Given the description of an element on the screen output the (x, y) to click on. 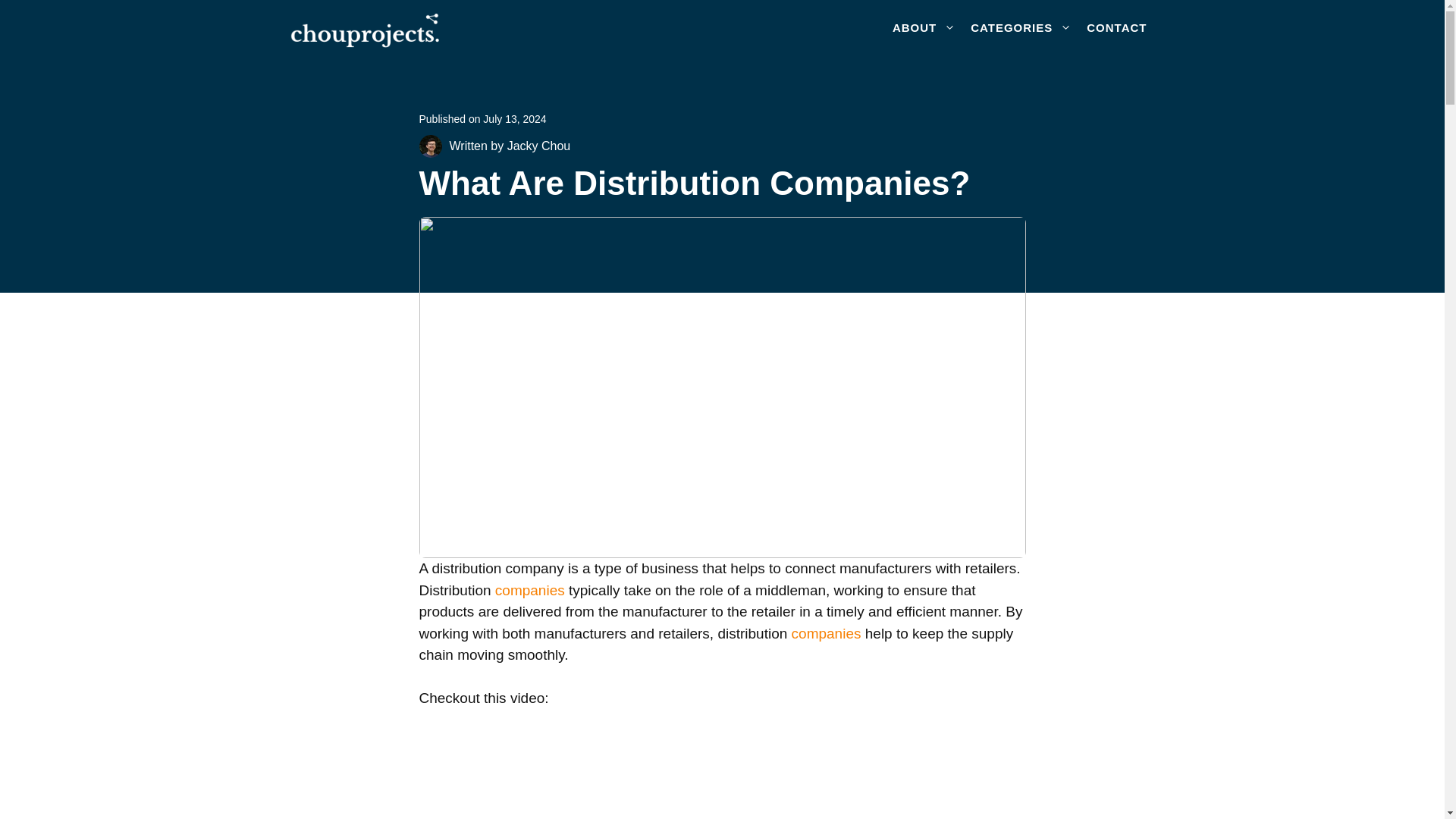
CONTACT (1116, 27)
companies (529, 590)
ABOUT (923, 27)
companies (826, 633)
CATEGORIES (1020, 27)
